Given the description of an element on the screen output the (x, y) to click on. 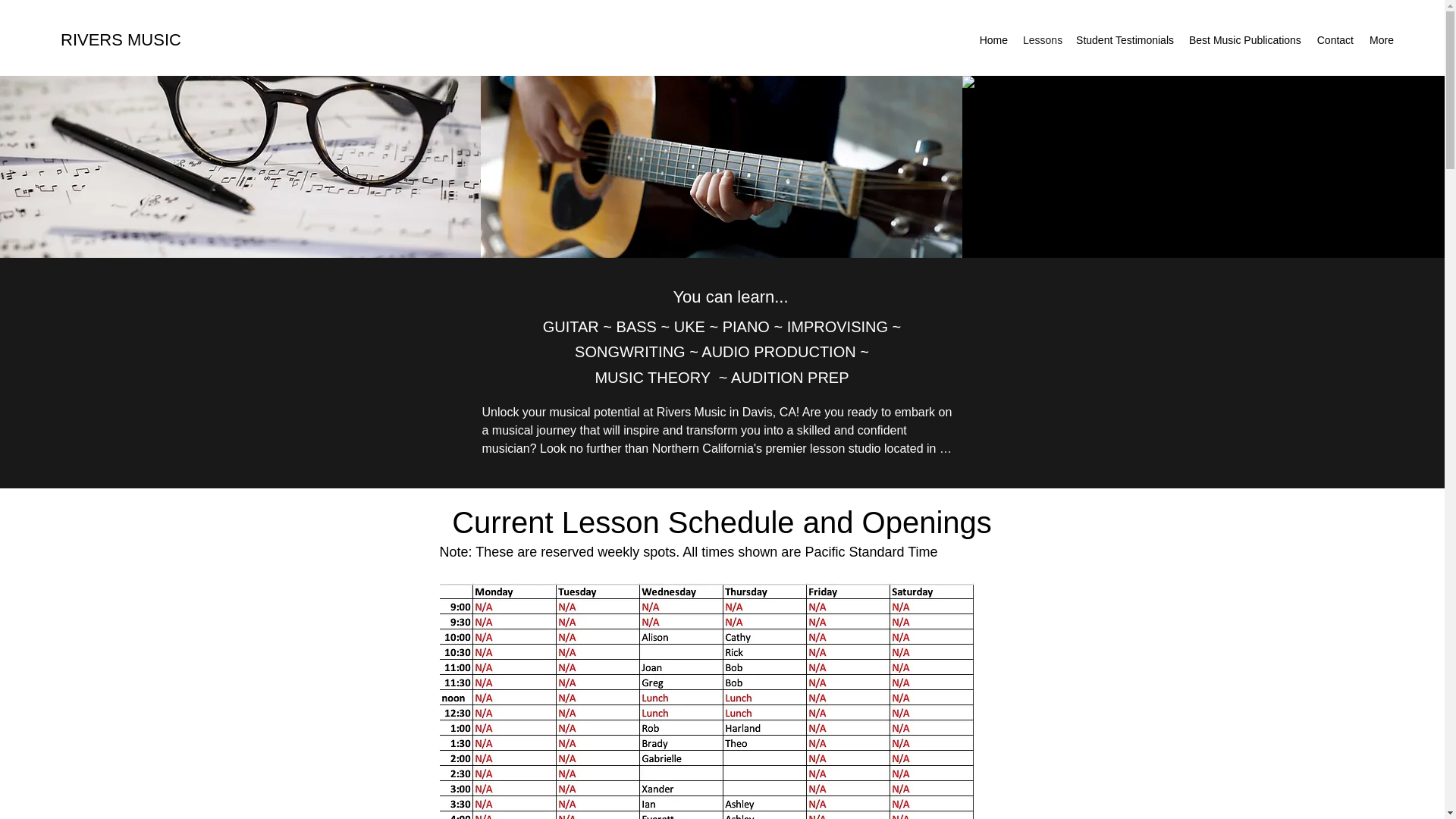
Lessons (1040, 39)
Contact (1334, 39)
Best Music Publications (1243, 39)
Home (992, 39)
Student Testimonials (1123, 39)
